Given the description of an element on the screen output the (x, y) to click on. 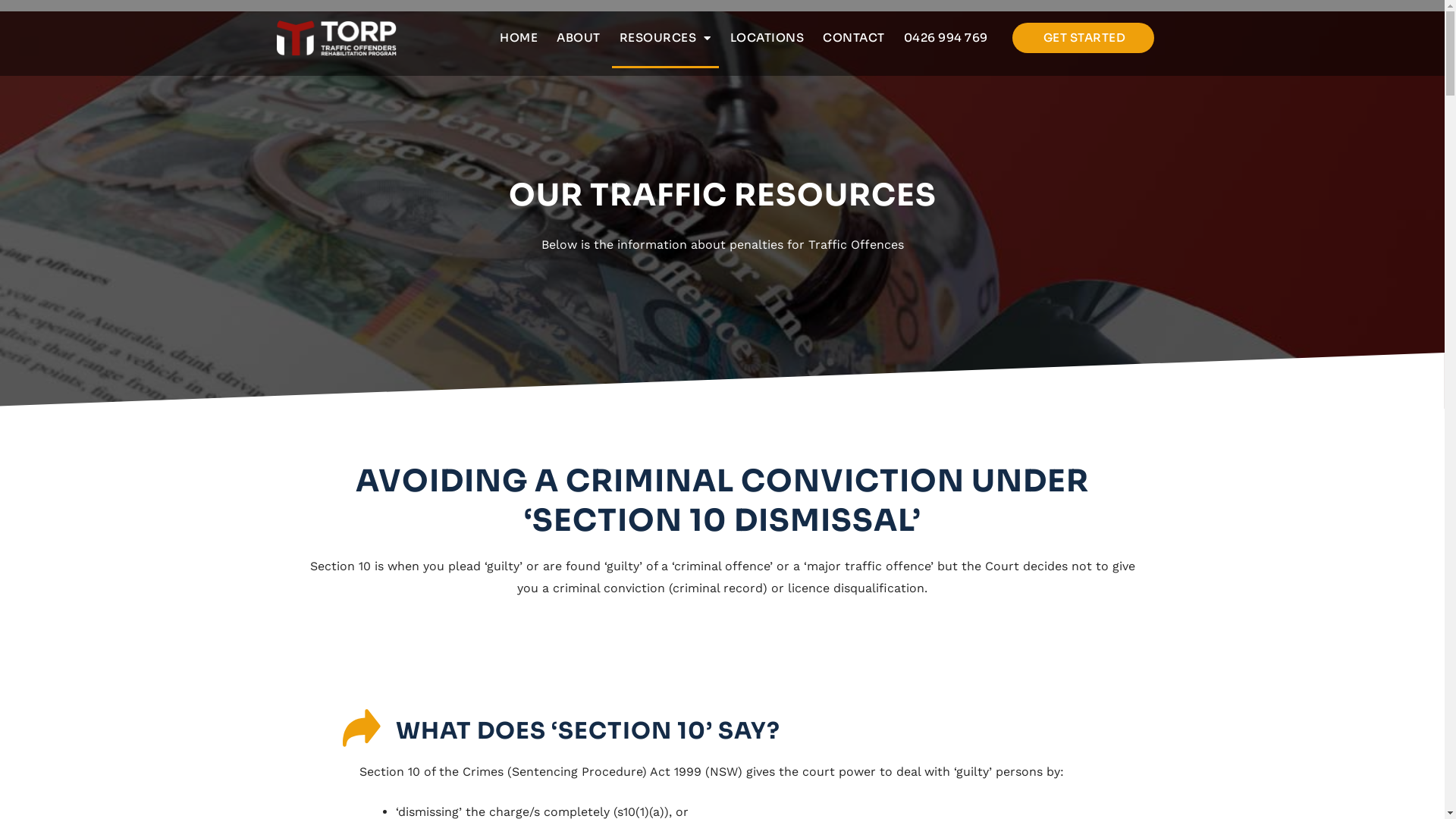
0426 994 769 Element type: text (945, 37)
RESOURCES Element type: text (664, 37)
ABOUT Element type: text (578, 37)
LOCATIONS Element type: text (767, 37)
GET STARTED Element type: text (1084, 37)
HOME Element type: text (518, 37)
CONTACT Element type: text (853, 37)
